Given the description of an element on the screen output the (x, y) to click on. 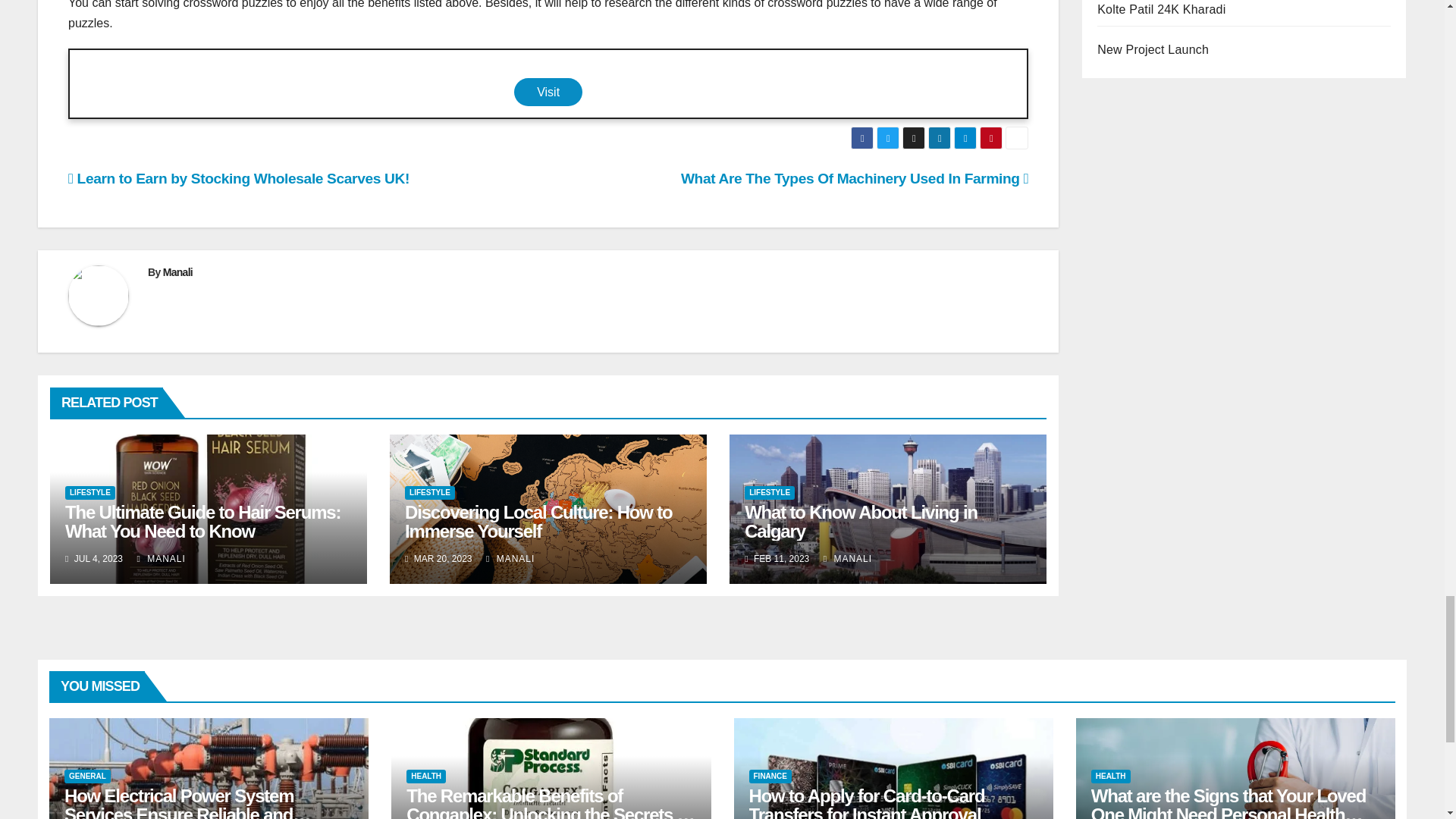
What Are The Types Of Machinery Used In Farming (854, 178)
Visit (547, 91)
